Given the description of an element on the screen output the (x, y) to click on. 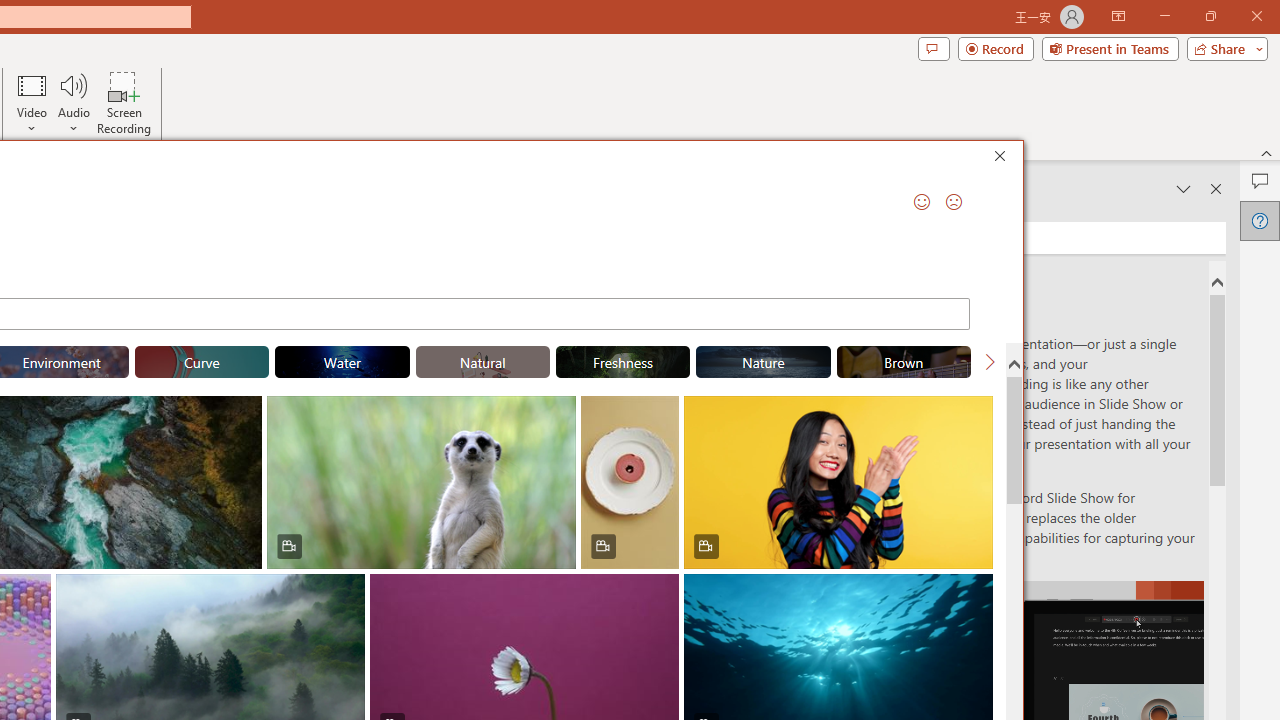
Video (31, 102)
Thumbnail (977, 588)
Next Search Suggestion (990, 362)
Send a Smile (922, 201)
"Freshness" Stock Videos. (622, 362)
